Given the description of an element on the screen output the (x, y) to click on. 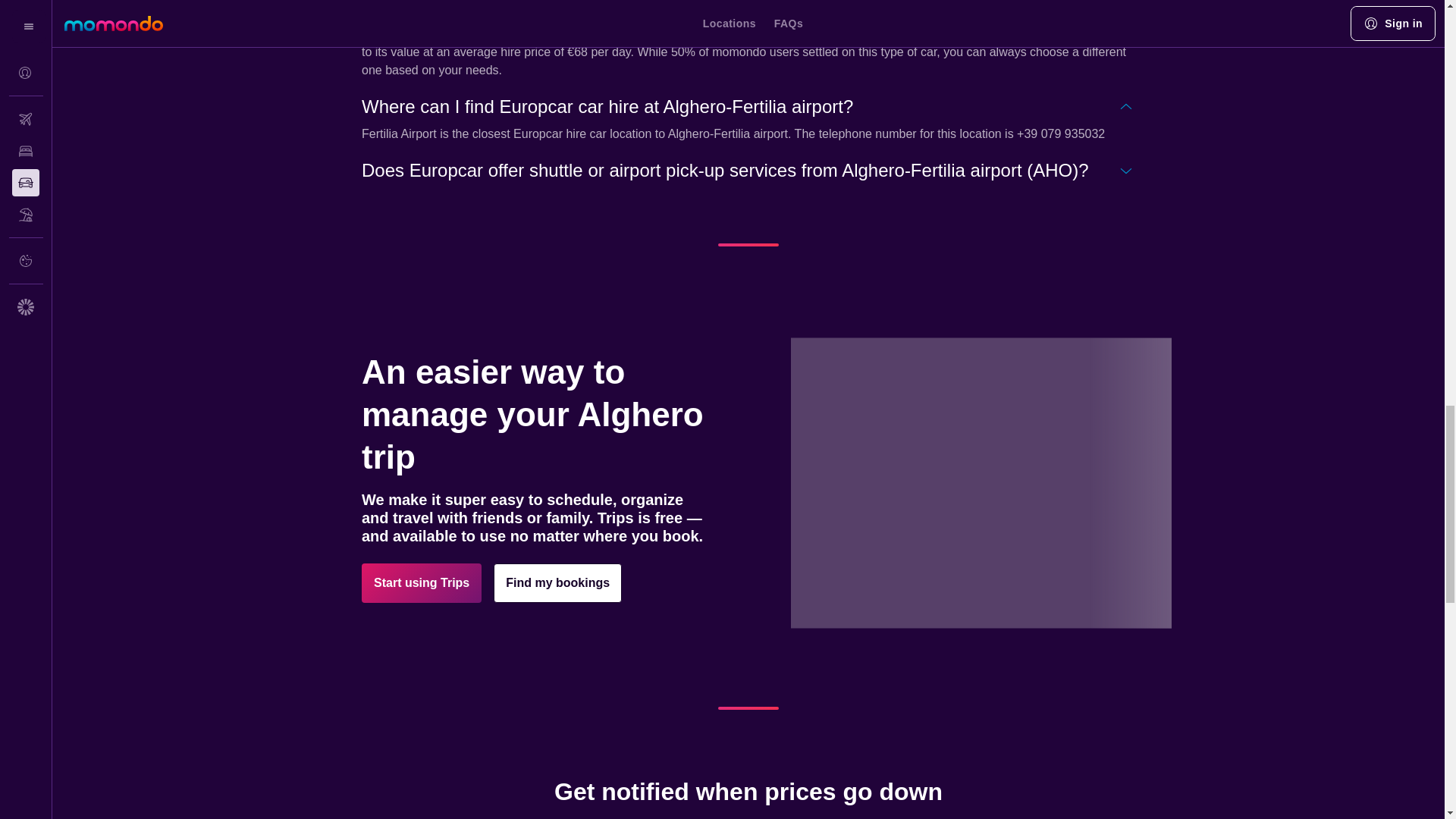
Find my bookings (557, 582)
Start using Trips (421, 582)
